Given the description of an element on the screen output the (x, y) to click on. 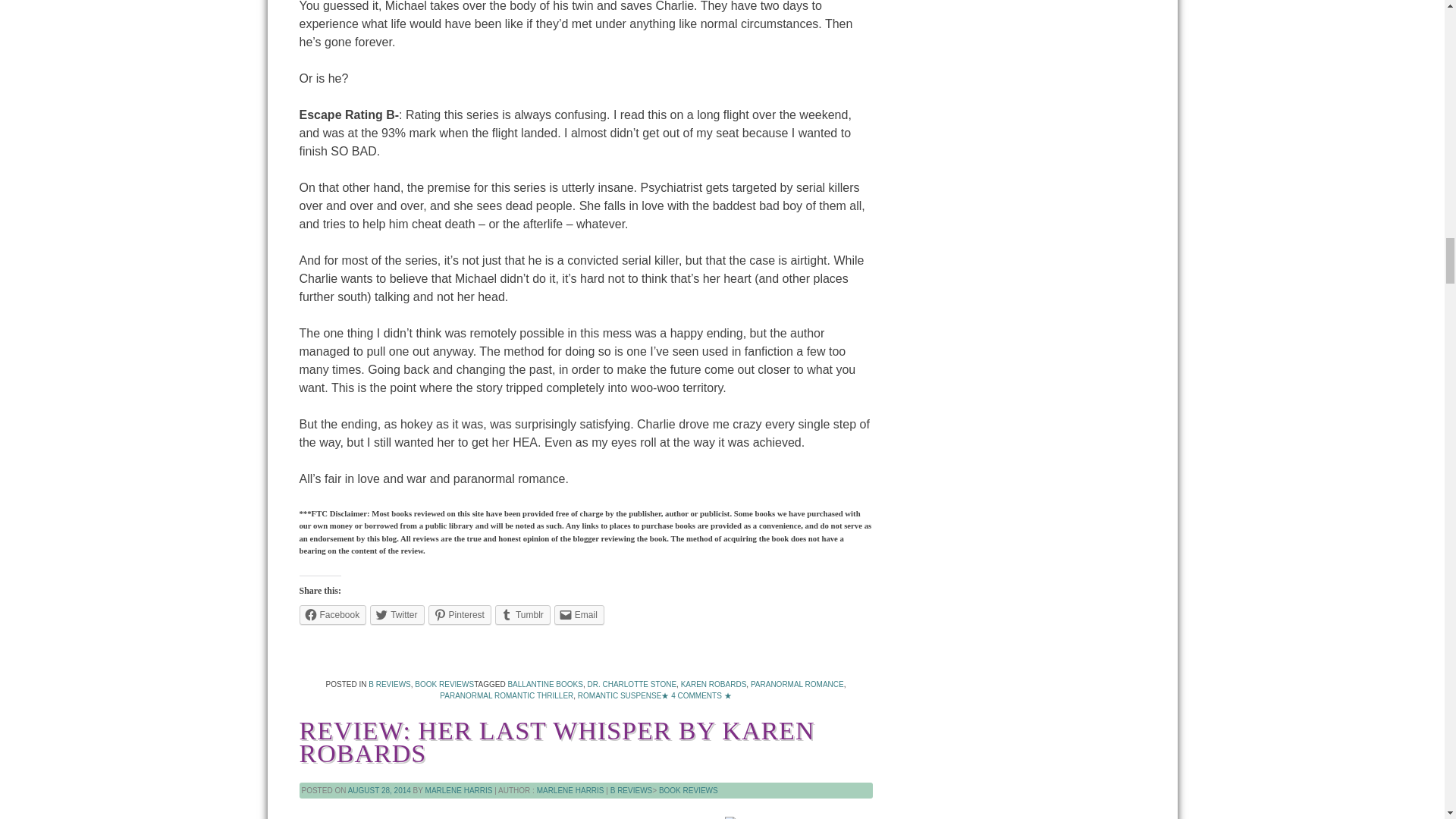
Click to share on Tumblr (522, 614)
Click to email a link to a friend (579, 614)
Posts by Marlene Harris (570, 790)
Click to share on Facebook (332, 614)
Click to share on Twitter (396, 614)
Click to share on Pinterest (460, 614)
